Given the description of an element on the screen output the (x, y) to click on. 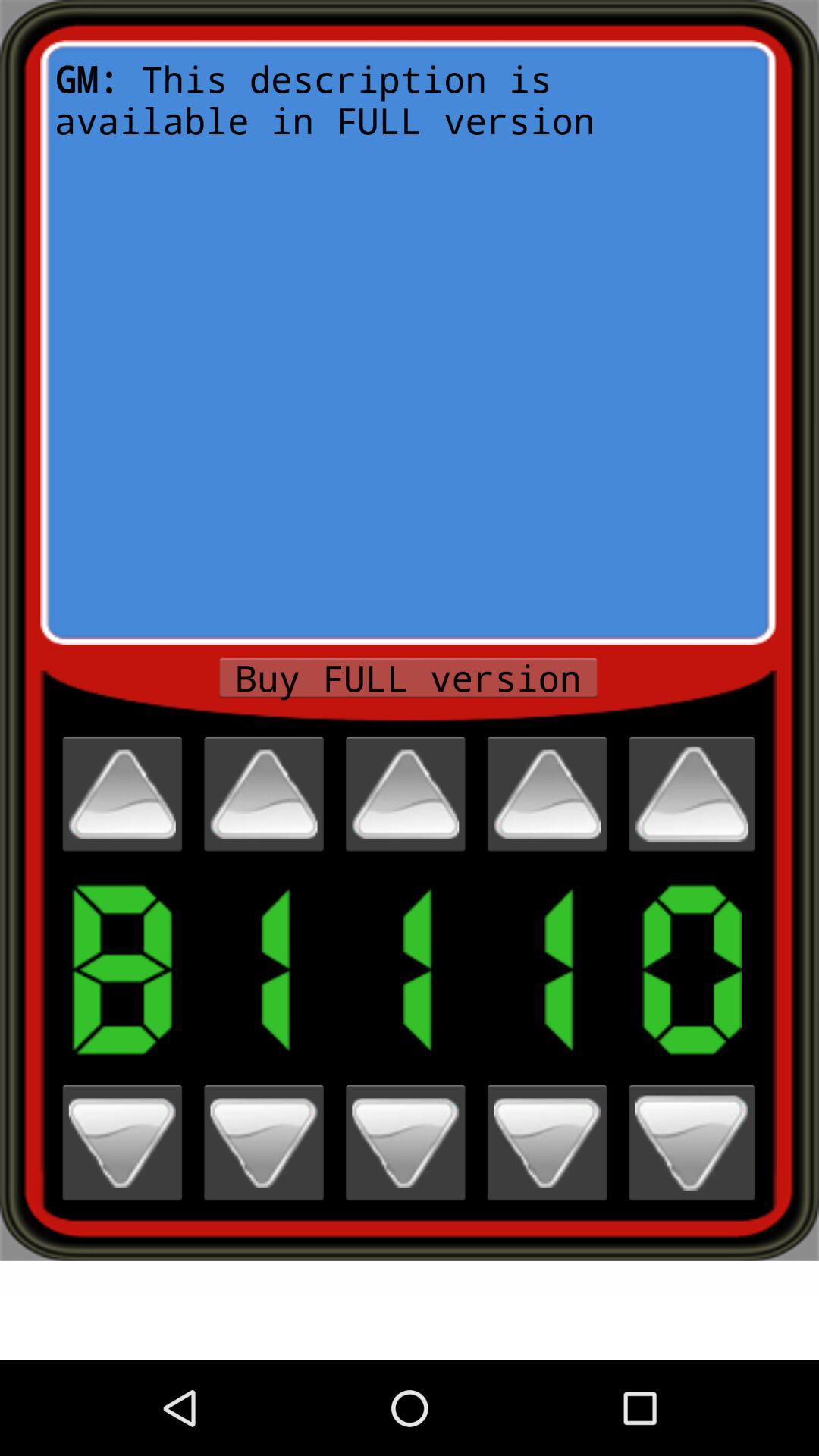
scroll up one digit (546, 794)
